Given the description of an element on the screen output the (x, y) to click on. 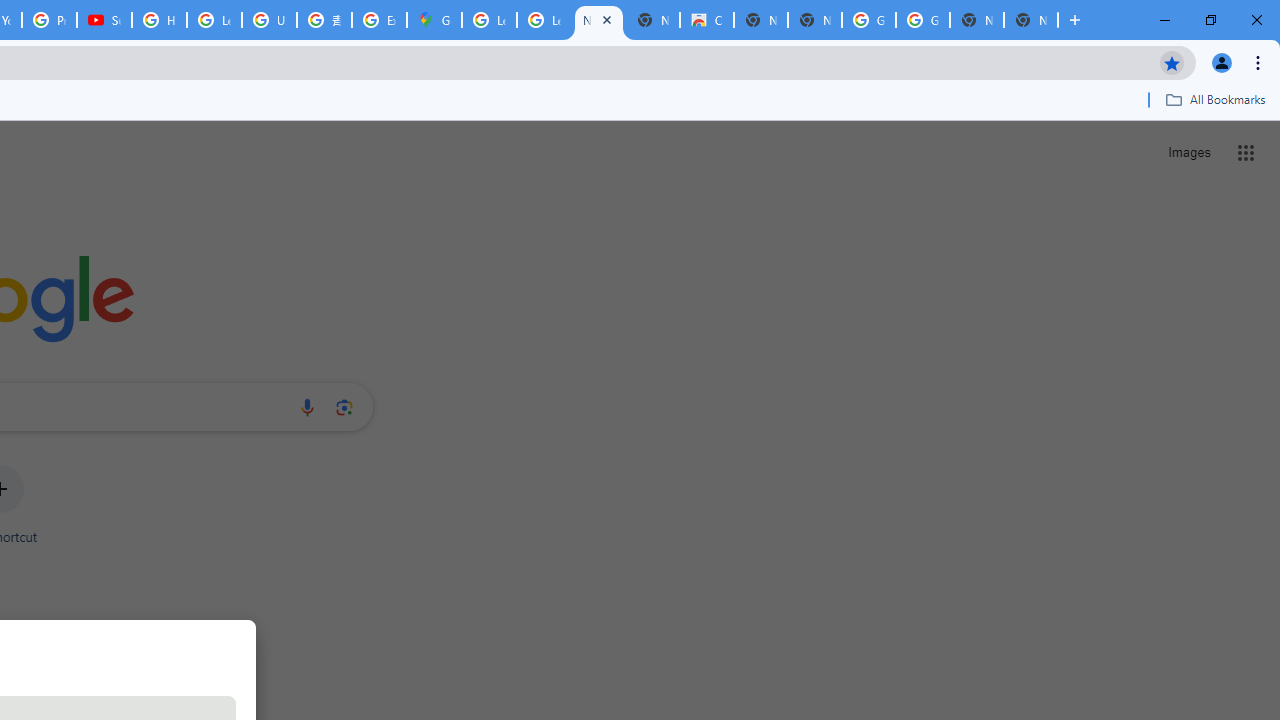
New Tab (1030, 20)
Chrome Web Store (706, 20)
All Bookmarks (1215, 99)
Google Maps (434, 20)
Subscriptions - YouTube (103, 20)
Google Images (868, 20)
